Given the description of an element on the screen output the (x, y) to click on. 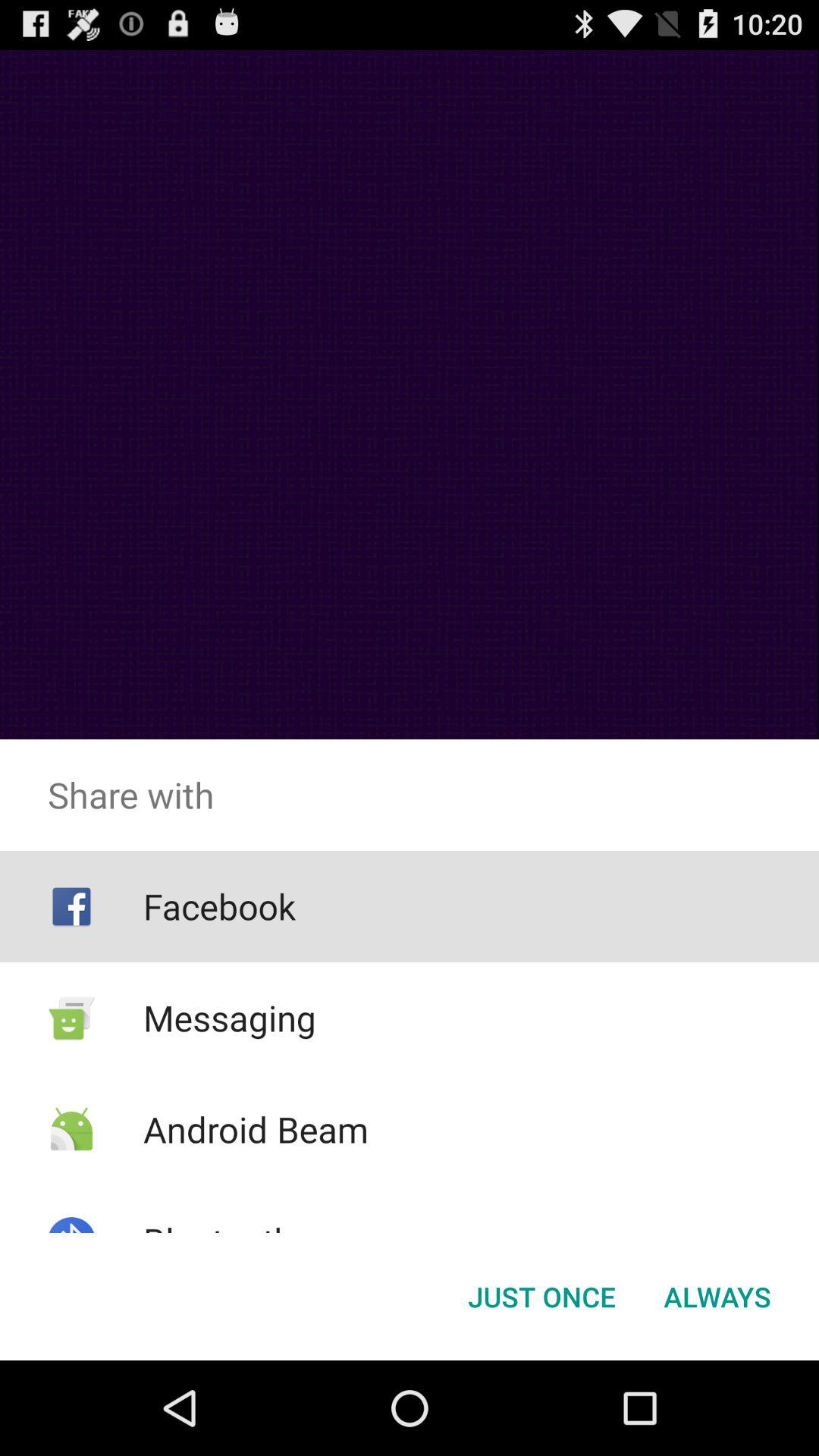
click the item below share with (219, 906)
